Given the description of an element on the screen output the (x, y) to click on. 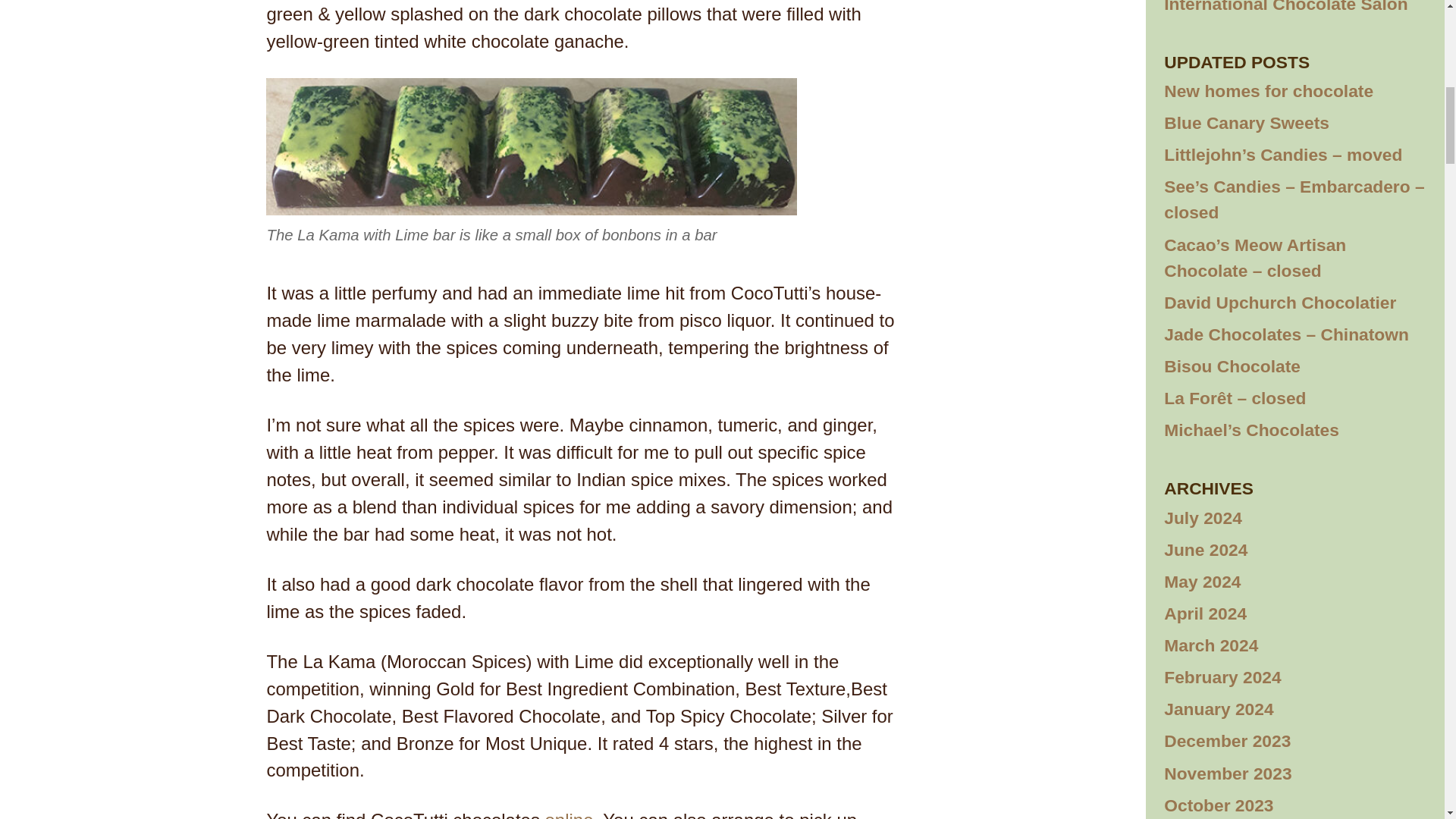
online (569, 814)
